Given the description of an element on the screen output the (x, y) to click on. 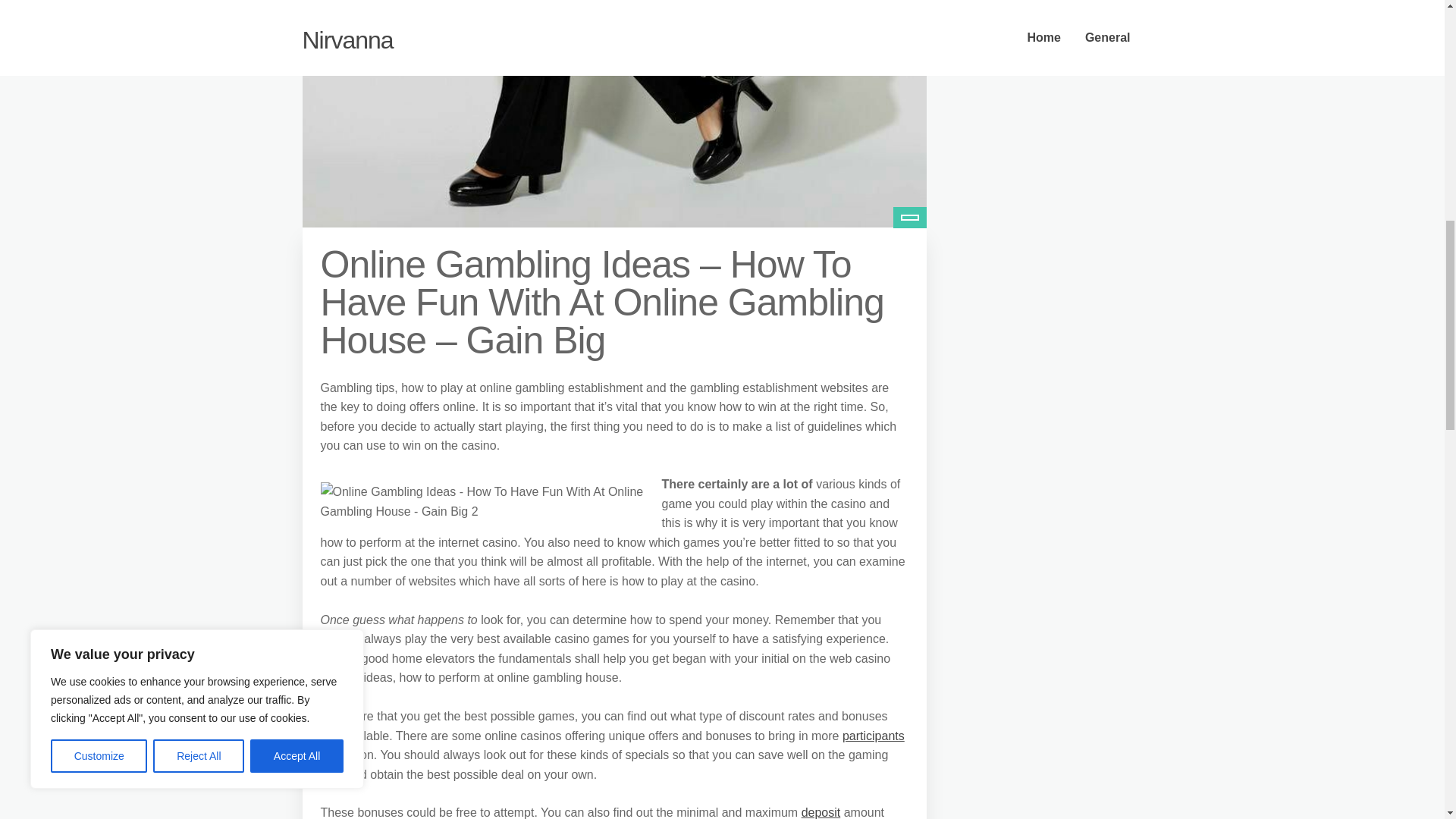
deposit (821, 812)
participants (873, 735)
